Given the description of an element on the screen output the (x, y) to click on. 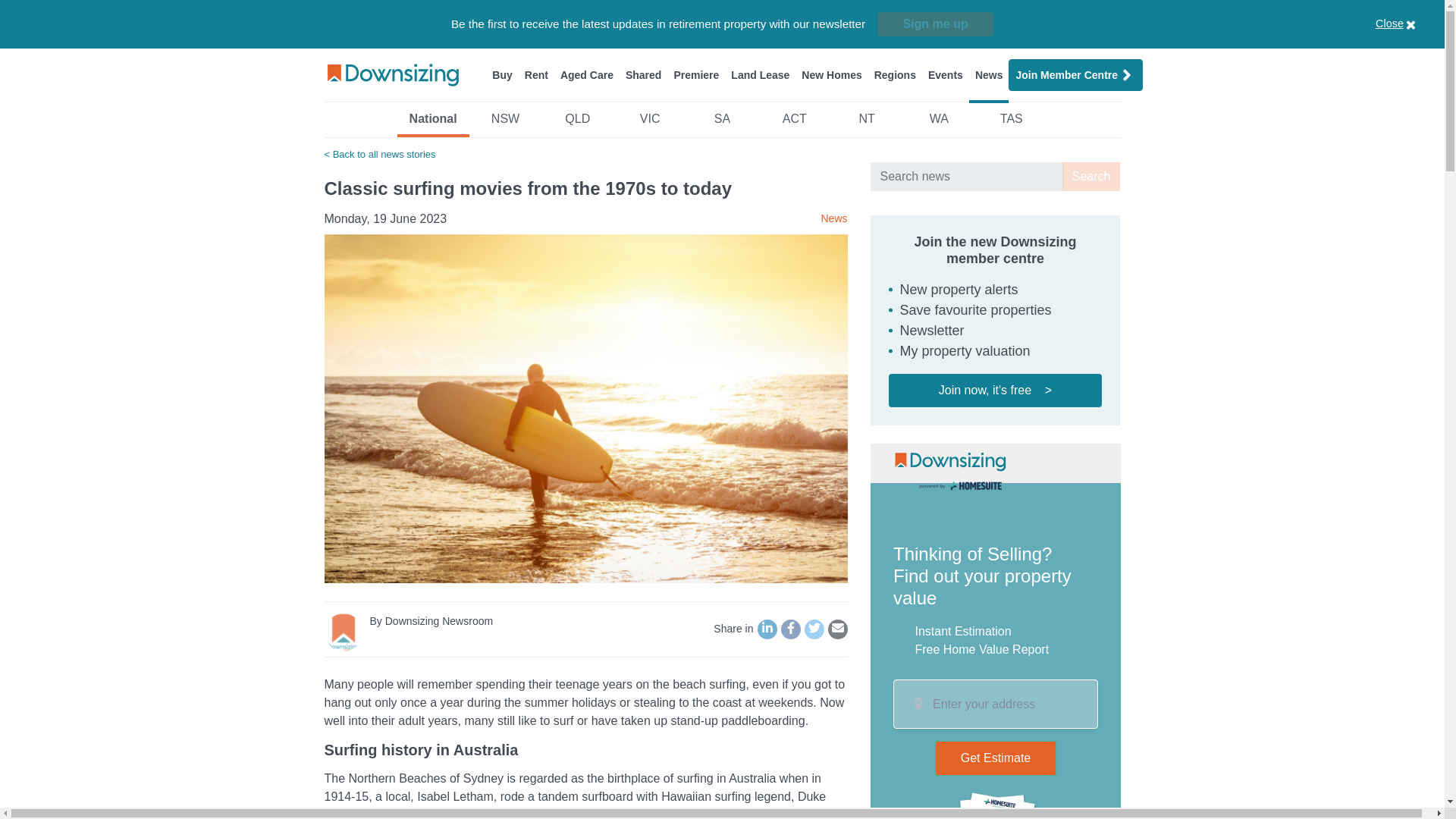
ACT (793, 123)
NSW (504, 123)
Join Member Centre (1075, 74)
Rent (536, 74)
Aged Care (587, 74)
WA (938, 123)
Premiere (695, 74)
NT (865, 123)
Search (1091, 176)
SA (721, 123)
Regions (894, 74)
Buy (502, 74)
Land Lease (759, 74)
Close (1414, 24)
Sign me up (934, 24)
